Given the description of an element on the screen output the (x, y) to click on. 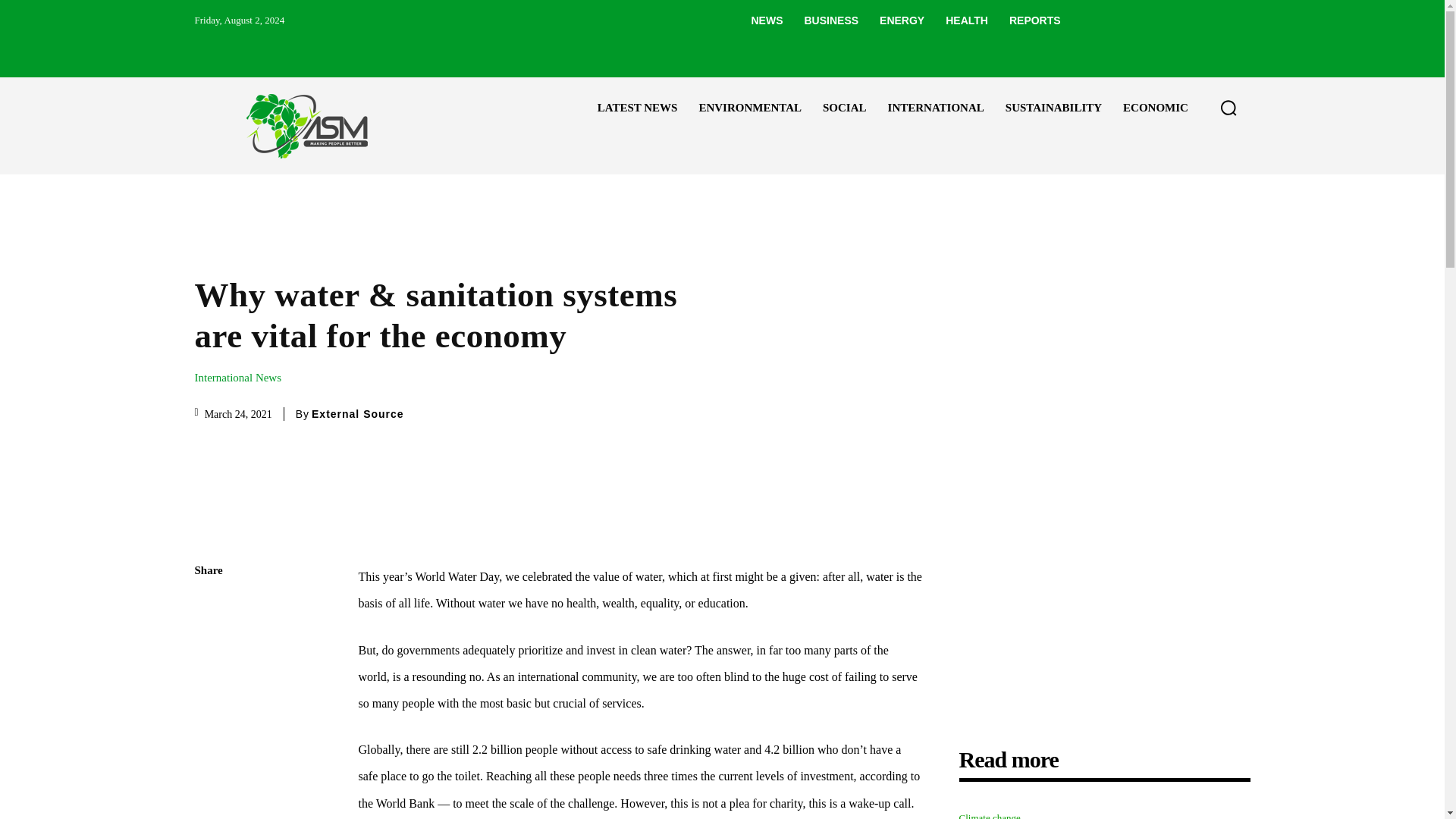
BUSINESS (831, 20)
NEWS (766, 20)
ENERGY (901, 20)
REPORTS (1034, 20)
HEALTH (966, 20)
